Given the description of an element on the screen output the (x, y) to click on. 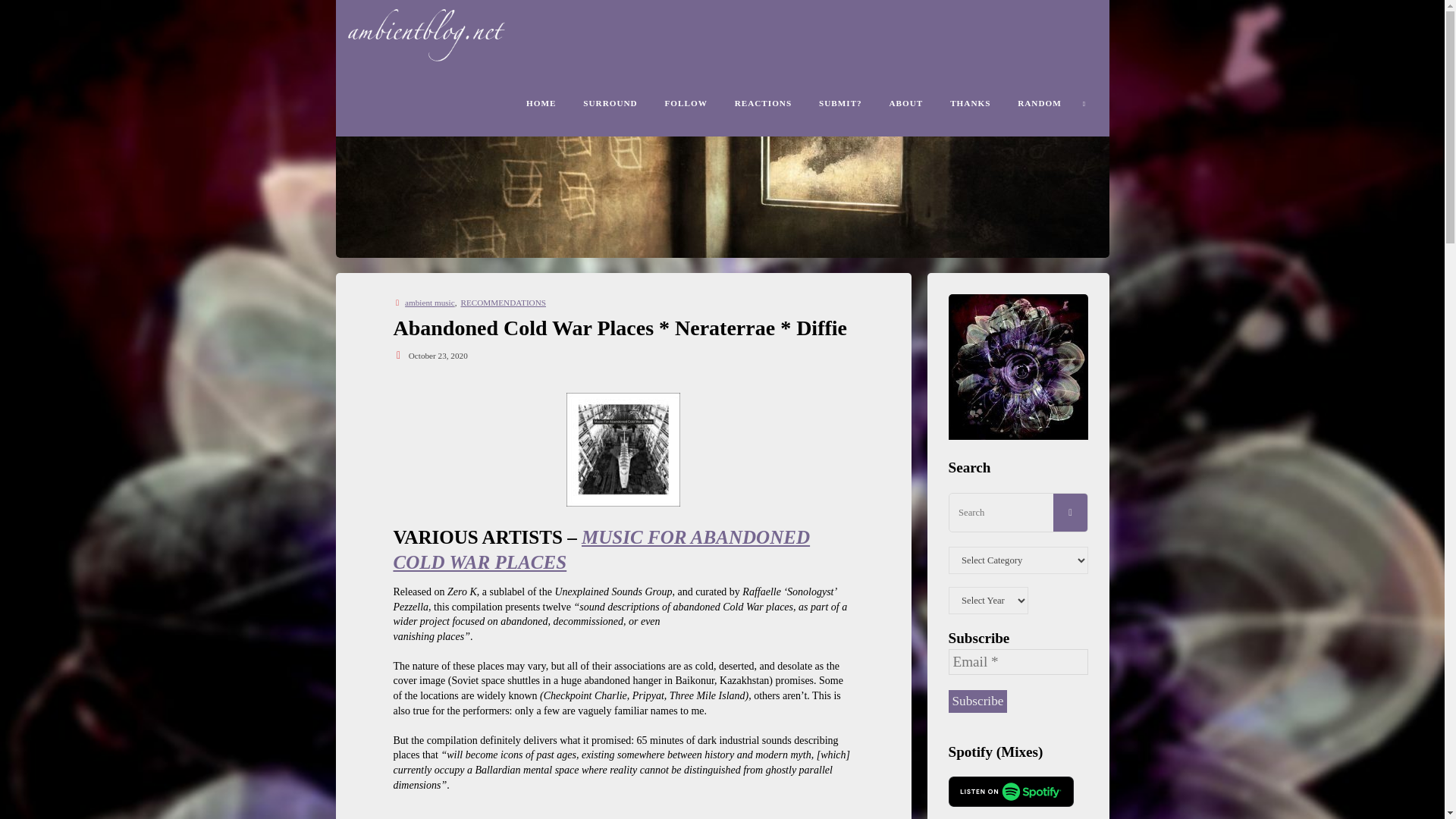
FOLLOW (685, 101)
ambient music (428, 302)
RECOMMENDATIONS (502, 302)
RANDOM (1039, 101)
MUSIC FOR ABANDONED COLD WAR PLACES (601, 549)
Subscribe (977, 701)
SUBMIT? (840, 101)
SURROUND (609, 101)
THANKS (970, 101)
Ambientblog (439, 33)
ABOUT (906, 101)
REACTIONS (762, 101)
